Given the description of an element on the screen output the (x, y) to click on. 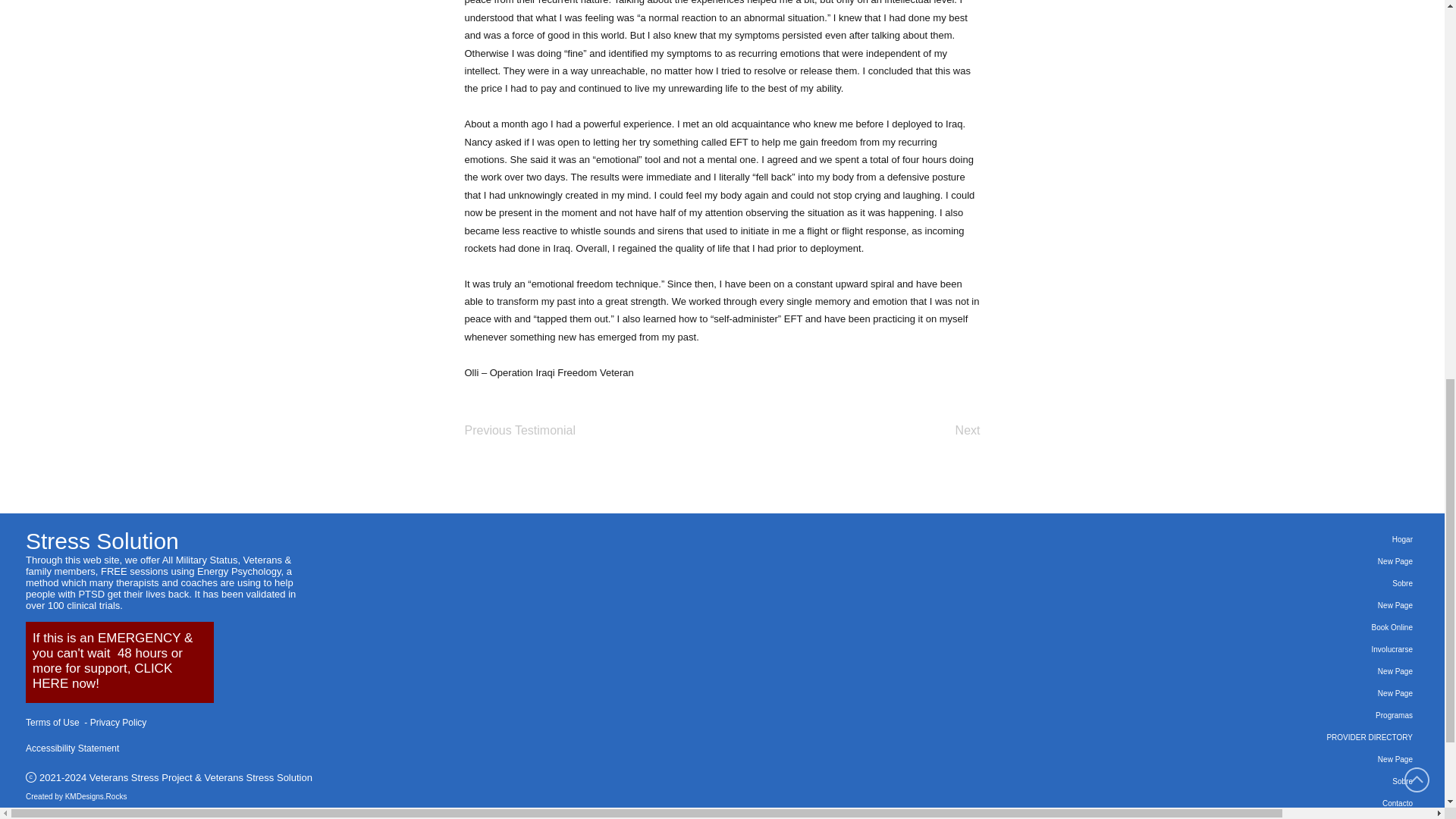
PROVIDER DIRECTORY (1310, 737)
Programas (1310, 715)
Hogar (1310, 539)
Stress Solution (102, 540)
New Page (1310, 605)
Contacto (1310, 803)
Next (941, 430)
New Page (1310, 759)
Created by KMDesigns.Rocks  (77, 796)
Previous Testimonial (519, 430)
